Given the description of an element on the screen output the (x, y) to click on. 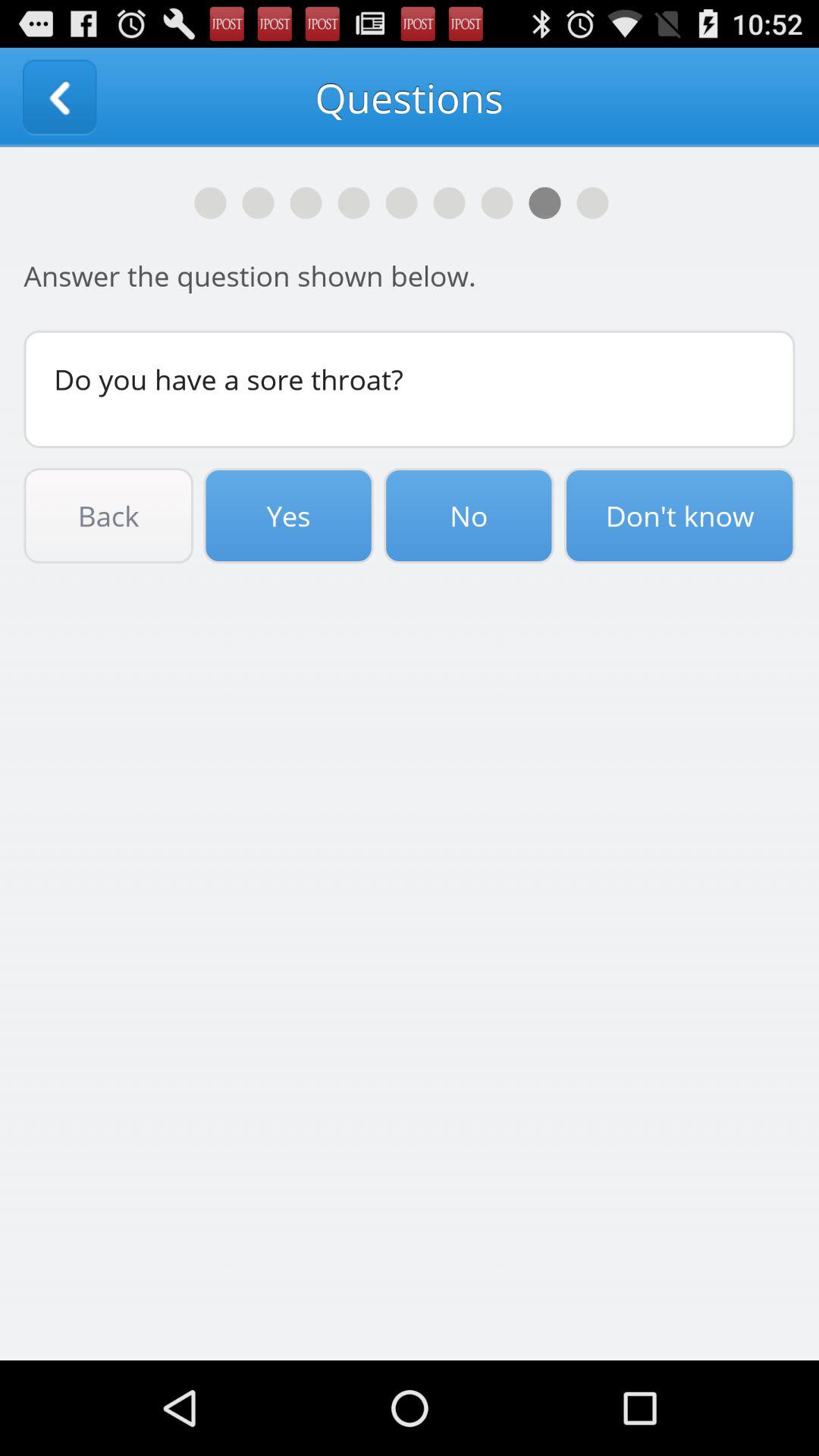
go back (59, 97)
